Given the description of an element on the screen output the (x, y) to click on. 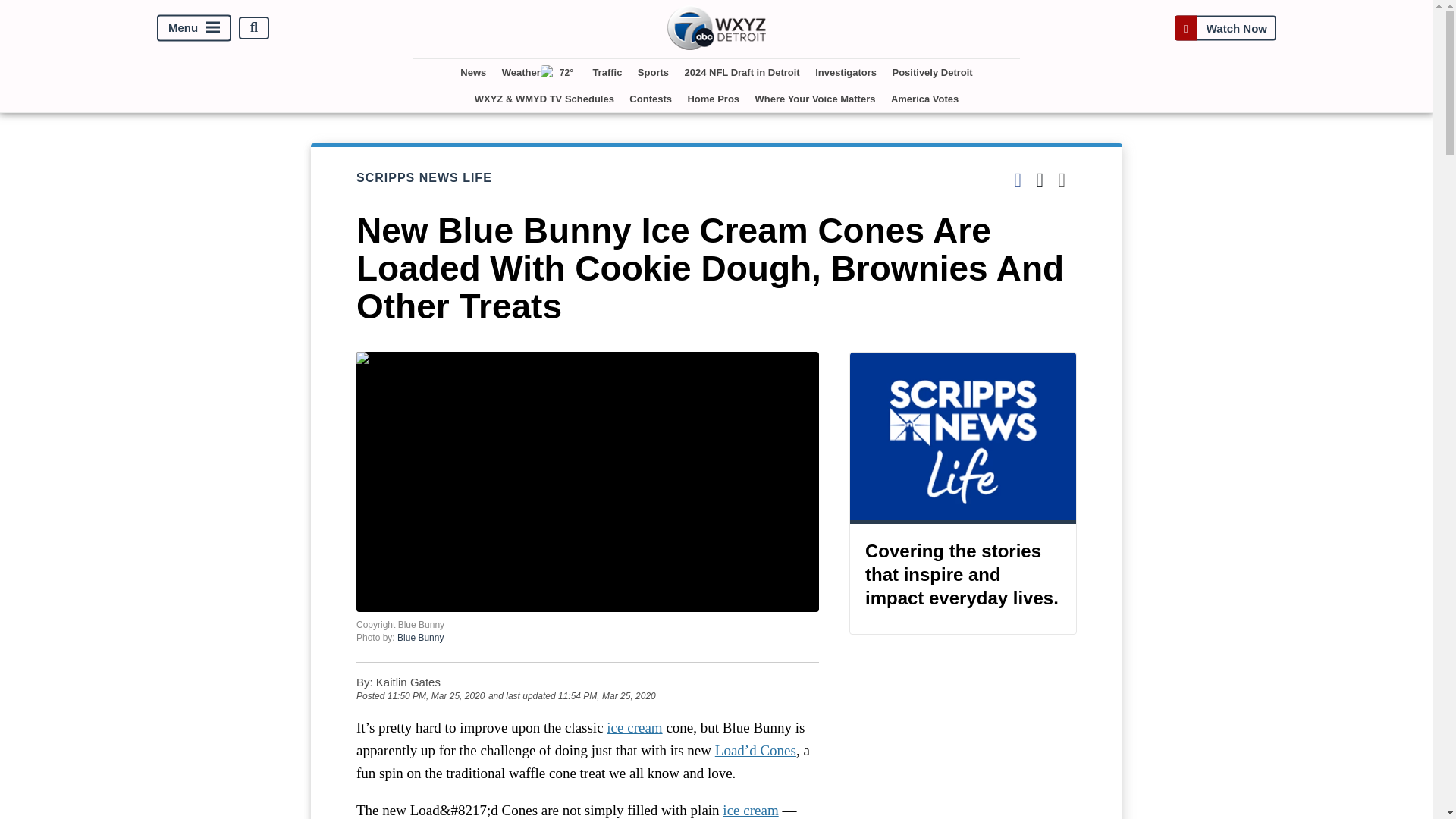
Watch Now (1224, 27)
Menu (194, 27)
